Given the description of an element on the screen output the (x, y) to click on. 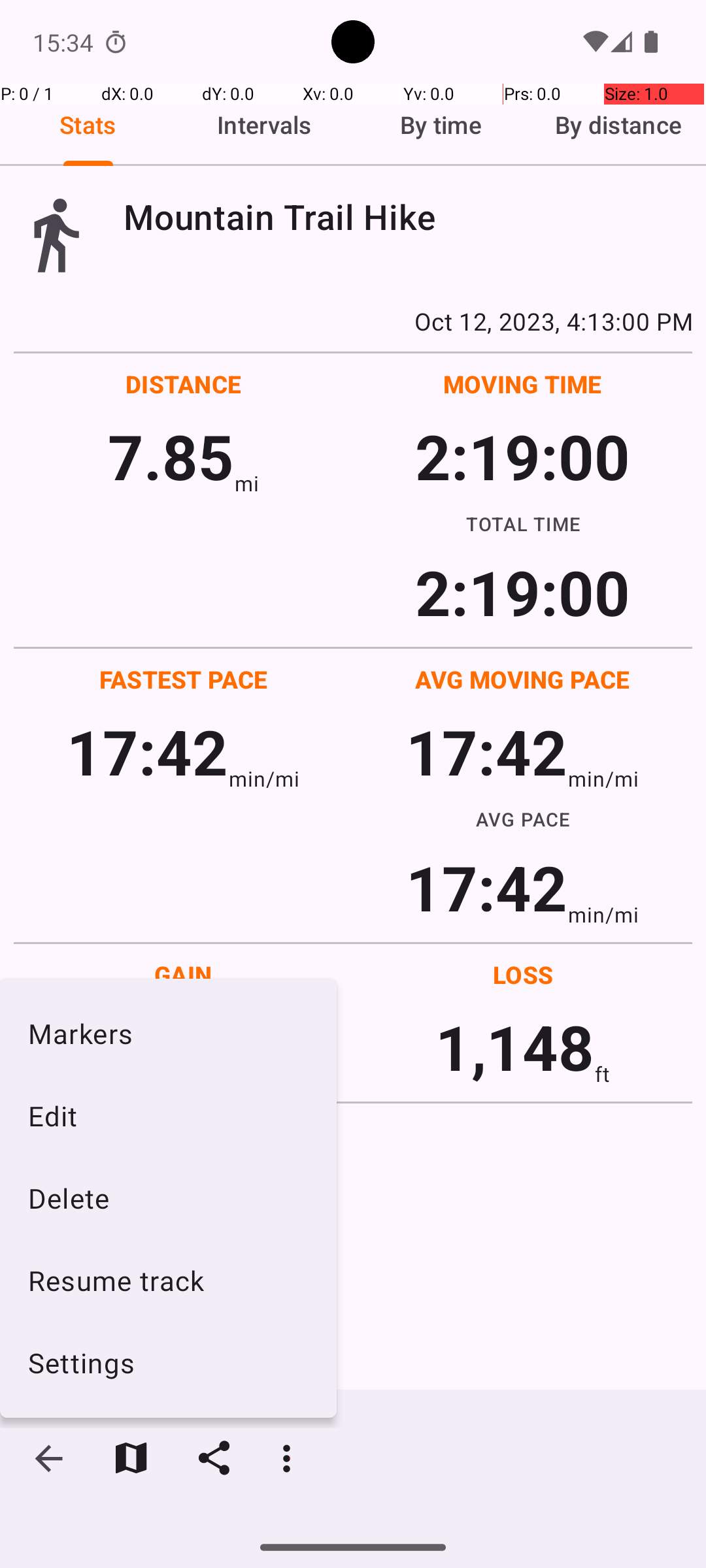
Resume track Element type: android.widget.TextView (168, 1279)
